Given the description of an element on the screen output the (x, y) to click on. 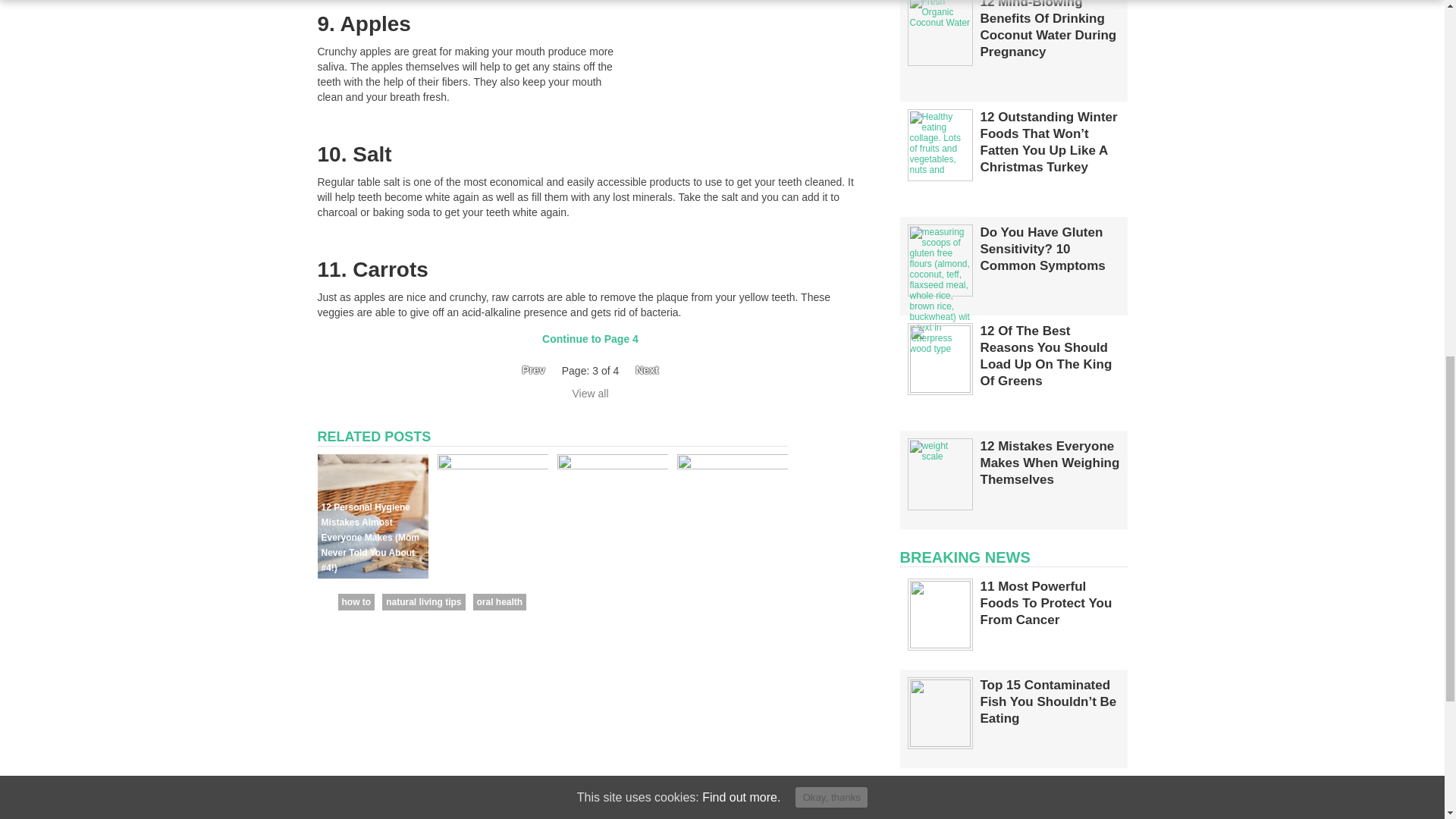
Next (650, 370)
Prev (528, 370)
View all (590, 393)
12 Effective Foods Which Fight And Destroy Cancer Cells (486, 552)
